Given the description of an element on the screen output the (x, y) to click on. 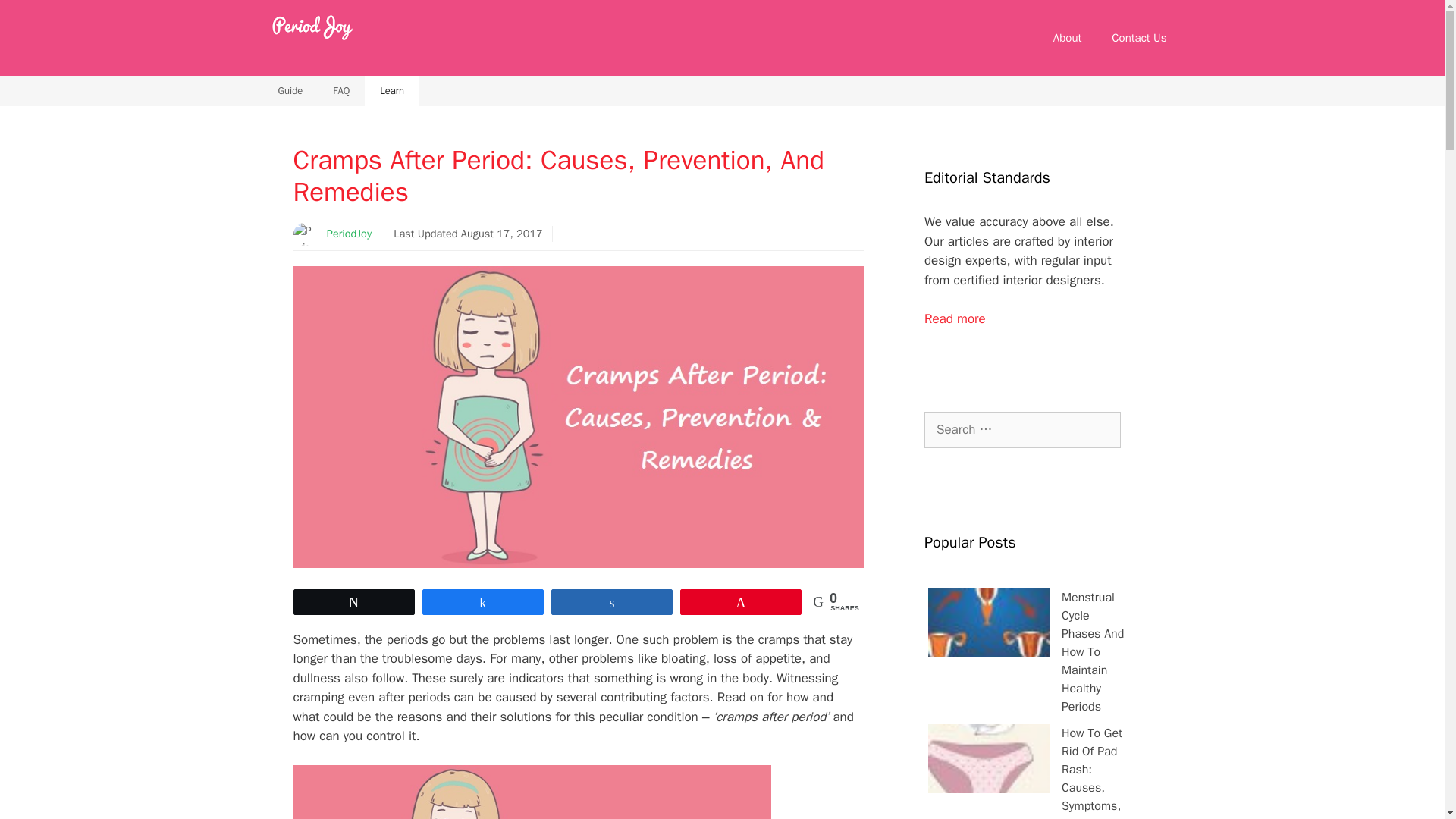
Search for: (1022, 429)
Cramps After Period: Causes, Prevention, And Remedies (558, 175)
PeriodJoy (348, 233)
View all posts by PeriodJoy (348, 233)
Read more (954, 318)
Contact Us (1138, 37)
FAQ (341, 91)
PeriodJoy (311, 26)
Search (35, 18)
Learn (392, 91)
